Given the description of an element on the screen output the (x, y) to click on. 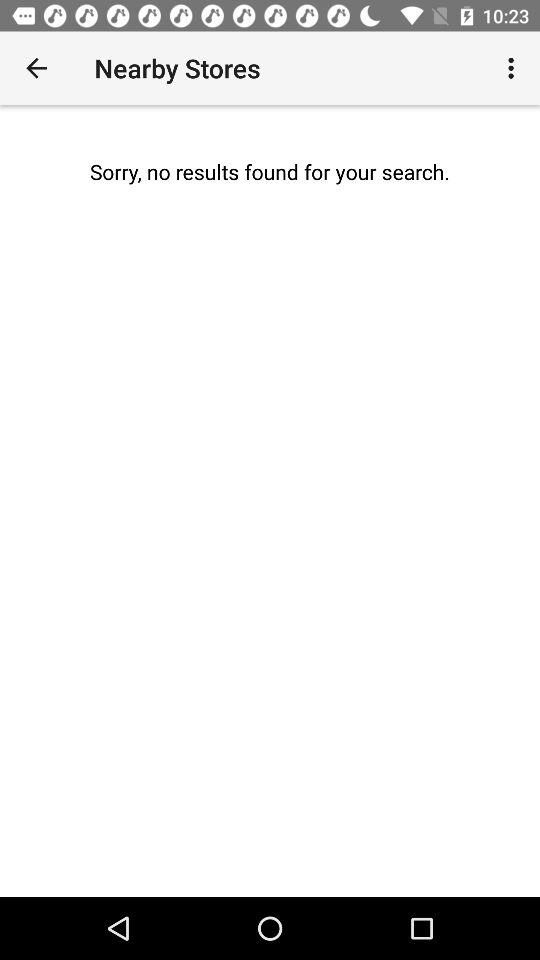
choose the icon to the right of the nearby stores icon (513, 67)
